Given the description of an element on the screen output the (x, y) to click on. 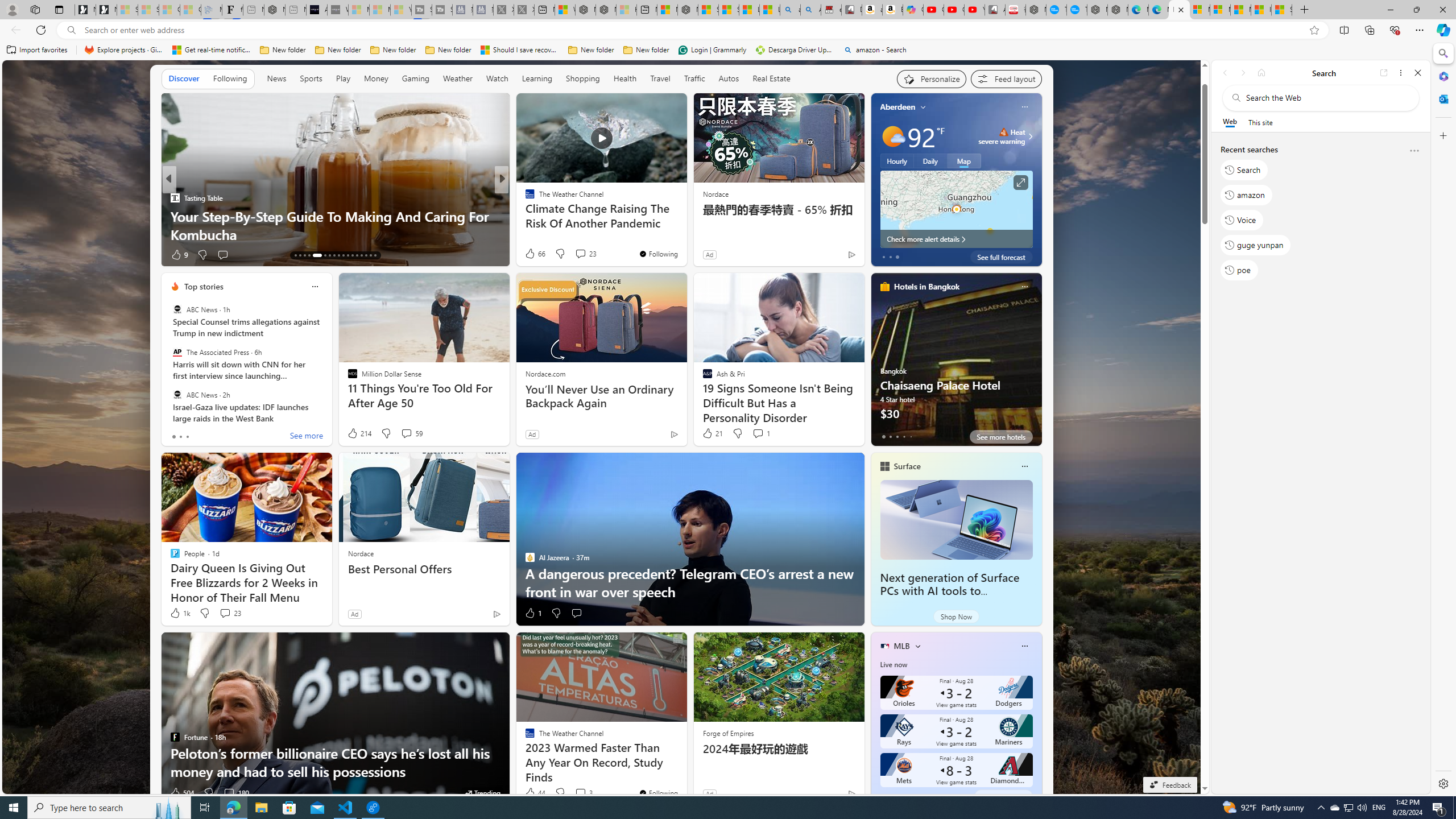
Microsoft Start Sports - Sleeping (358, 9)
